Given the description of an element on the screen output the (x, y) to click on. 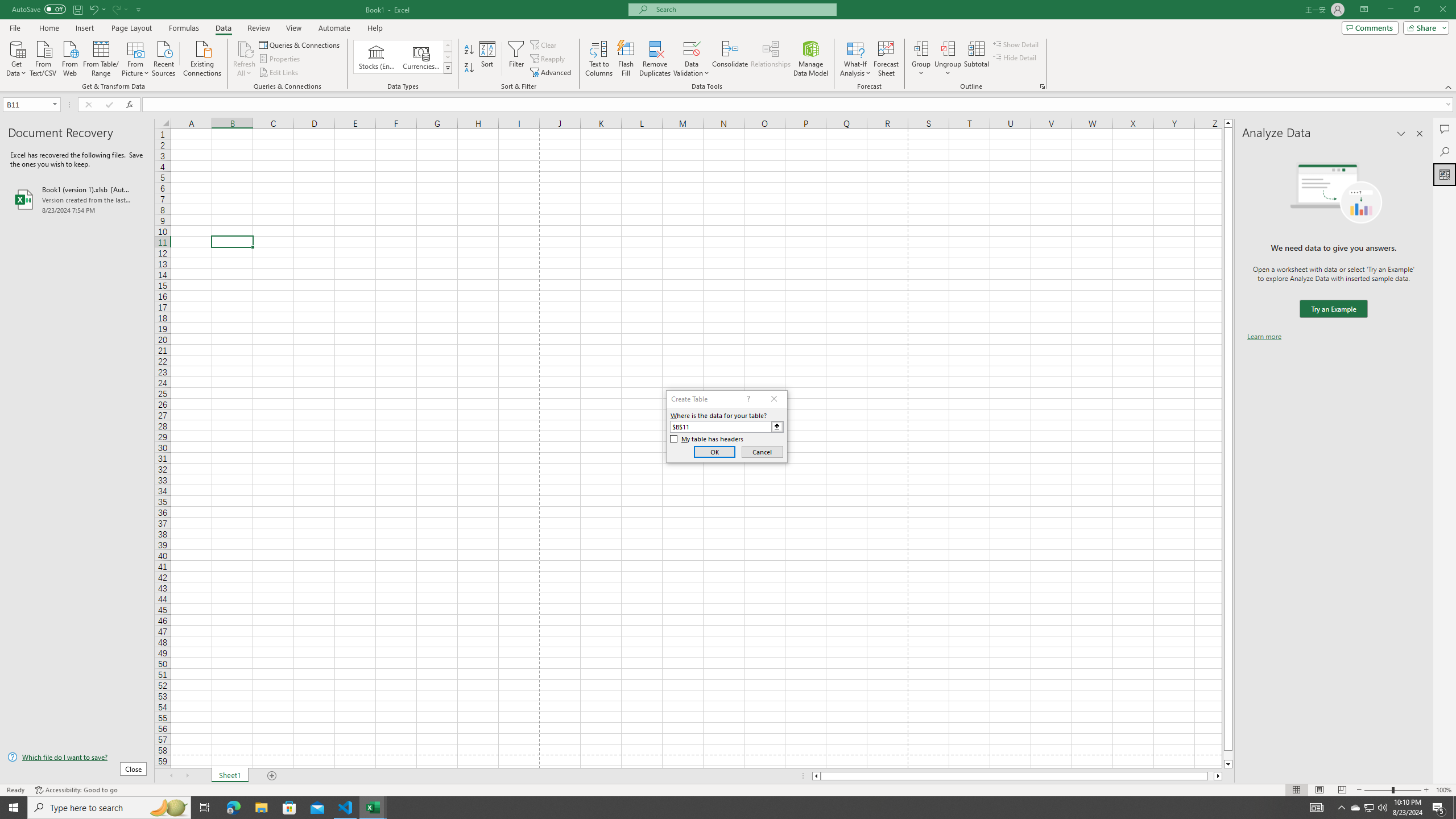
Consolidate... (729, 58)
Formulas (184, 28)
From Web (69, 57)
Zoom Out (1377, 790)
Column left (815, 775)
Page right (1211, 775)
Group and Outline Settings (1042, 85)
Quick Access Toolbar (77, 9)
Forecast Sheet (885, 58)
We need data to give you answers. Try an Example (1333, 308)
Data Validation... (691, 58)
Refresh All (244, 48)
From Table/Range (100, 57)
Class: NetUIScrollBar (1016, 775)
Formula Bar (799, 104)
